Given the description of an element on the screen output the (x, y) to click on. 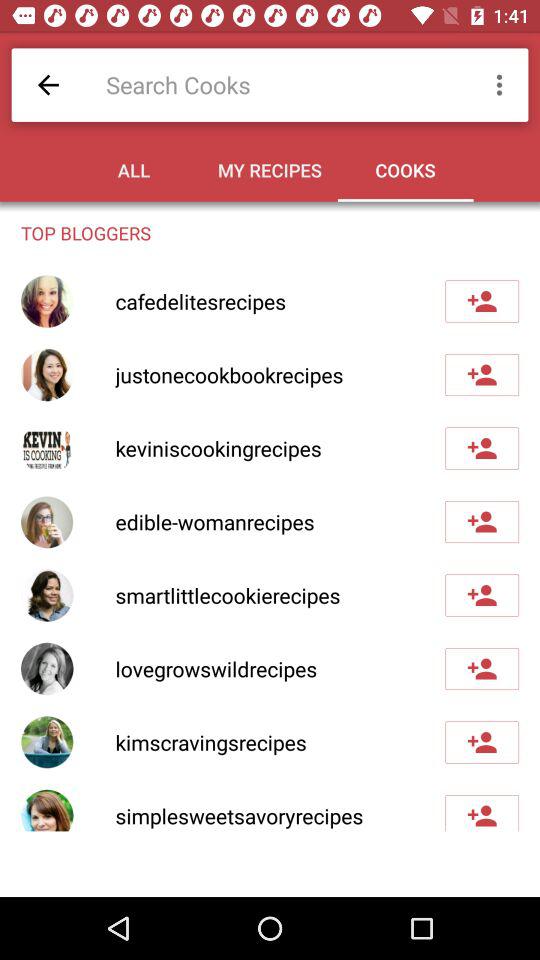
follow cook (482, 813)
